Given the description of an element on the screen output the (x, y) to click on. 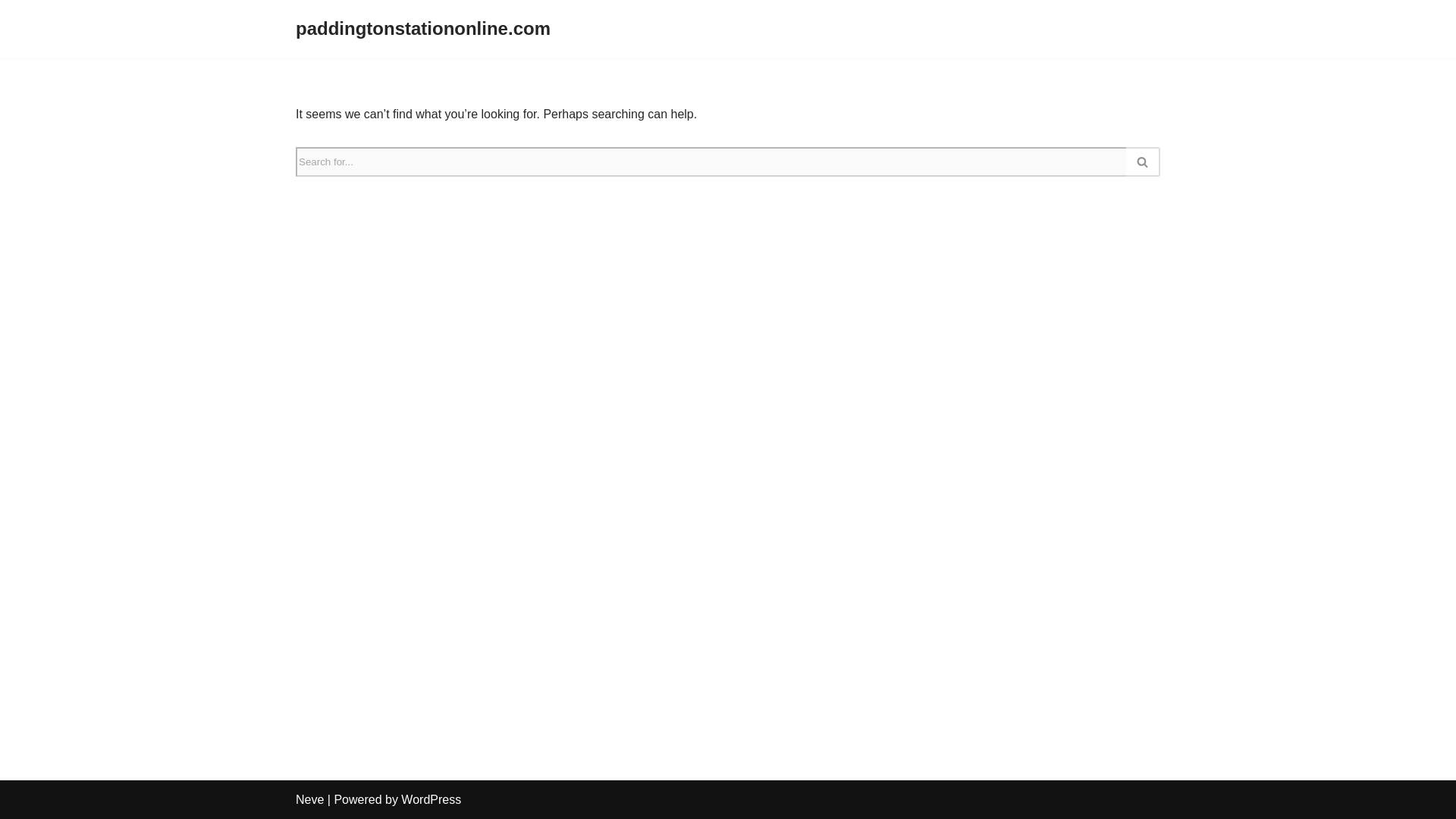
Skip to content (11, 31)
WordPress (431, 799)
Neve (309, 799)
paddingtonstationonline.com (422, 29)
